Given the description of an element on the screen output the (x, y) to click on. 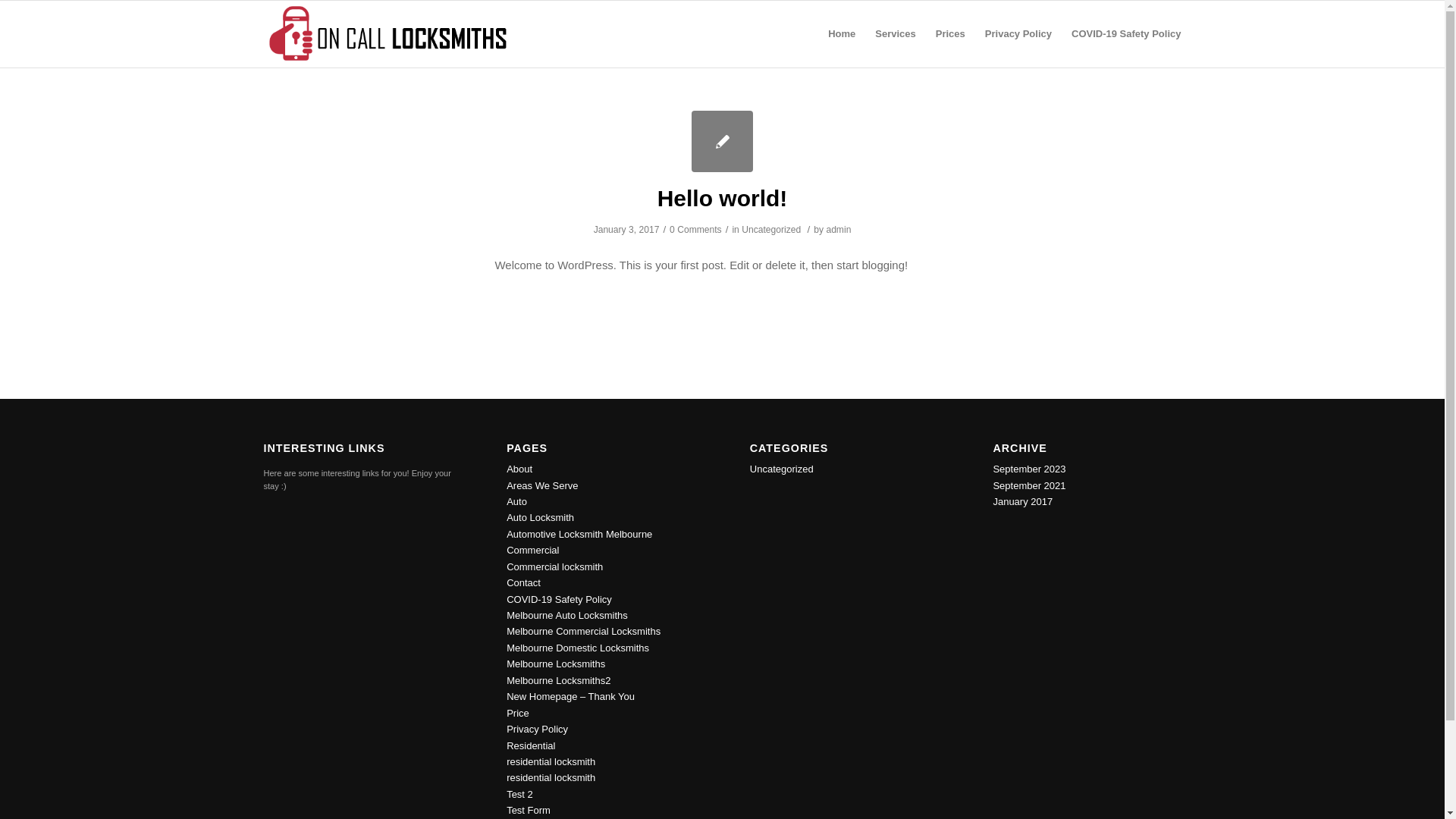
residential locksmith Element type: text (550, 761)
Melbourne Auto Locksmiths Element type: text (566, 615)
Services Element type: text (895, 33)
January 2017 Element type: text (1022, 501)
COVID-19 Safety Policy Element type: text (558, 599)
Prices Element type: text (950, 33)
Auto Element type: text (516, 501)
Melbourne Commercial Locksmiths Element type: text (583, 631)
Hello world! Element type: hover (722, 141)
COVID-19 Safety Policy Element type: text (1121, 33)
Uncategorized Element type: text (770, 229)
Uncategorized Element type: text (781, 468)
Melbourne Locksmiths Element type: text (555, 663)
Automotive Locksmith Melbourne Element type: text (579, 533)
0 Comments Element type: text (695, 229)
Price Element type: text (517, 712)
Residential Element type: text (530, 745)
Melbourne Locksmiths2 Element type: text (558, 680)
Privacy Policy Element type: text (536, 728)
Auto Locksmith Element type: text (540, 517)
About Element type: text (519, 468)
Areas We Serve Element type: text (541, 485)
admin Element type: text (837, 229)
Privacy Policy Element type: text (1018, 33)
September 2023 Element type: text (1028, 468)
Test 2 Element type: text (519, 794)
Contact Element type: text (523, 582)
Commercial Element type: text (532, 549)
Commercial locksmith Element type: text (554, 566)
Hello world! Element type: text (722, 197)
Melbourne Domestic Locksmiths Element type: text (577, 647)
residential locksmith Element type: text (550, 777)
Home Element type: text (841, 33)
Test Form Element type: text (528, 809)
September 2021 Element type: text (1028, 485)
